Given the description of an element on the screen output the (x, y) to click on. 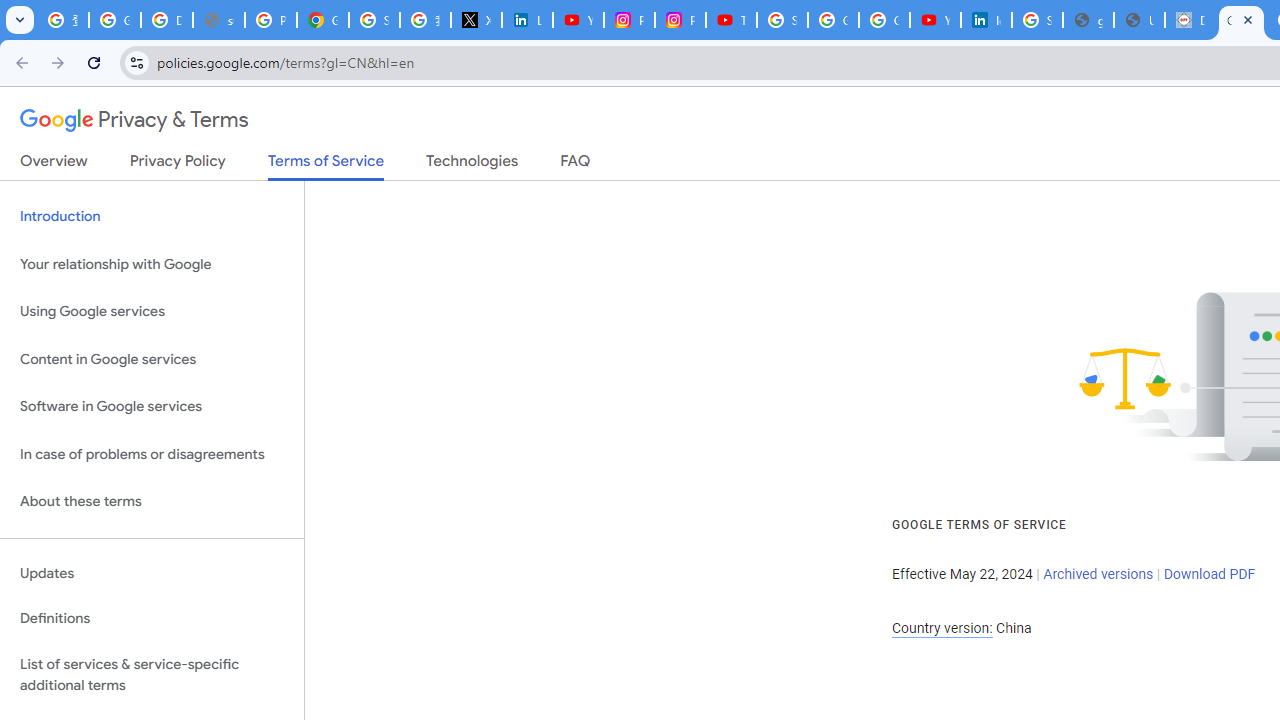
List of services & service-specific additional terms (152, 674)
Archived versions (1098, 574)
In case of problems or disagreements (152, 453)
Definitions (152, 619)
YouTube Content Monetization Policies - How YouTube Works (578, 20)
